Given the description of an element on the screen output the (x, y) to click on. 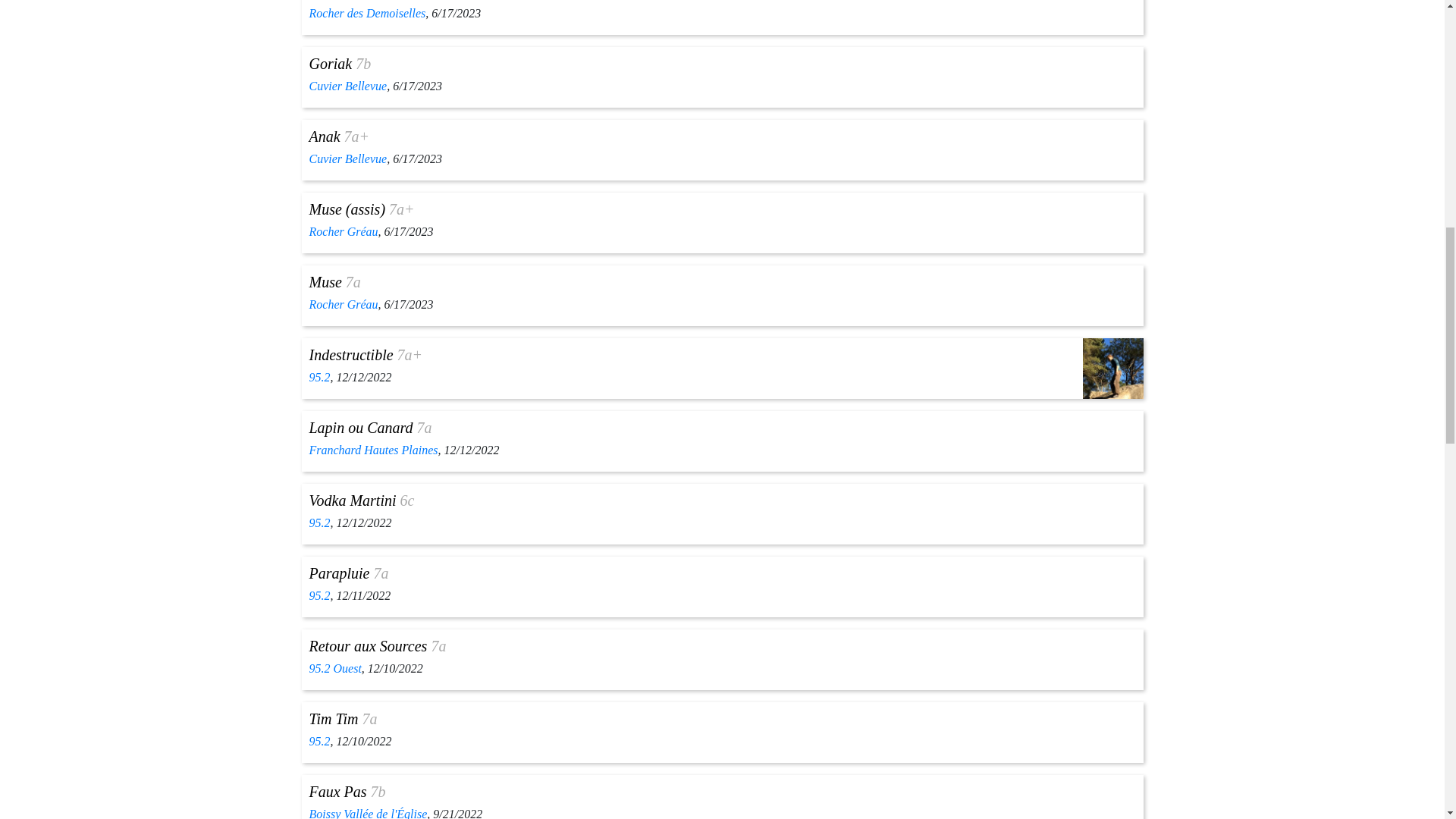
Goriak 7b (339, 63)
Rocher des Demoiselles (367, 12)
Cuvier Bellevue (347, 85)
Cuvier Bellevue (347, 158)
